Given the description of an element on the screen output the (x, y) to click on. 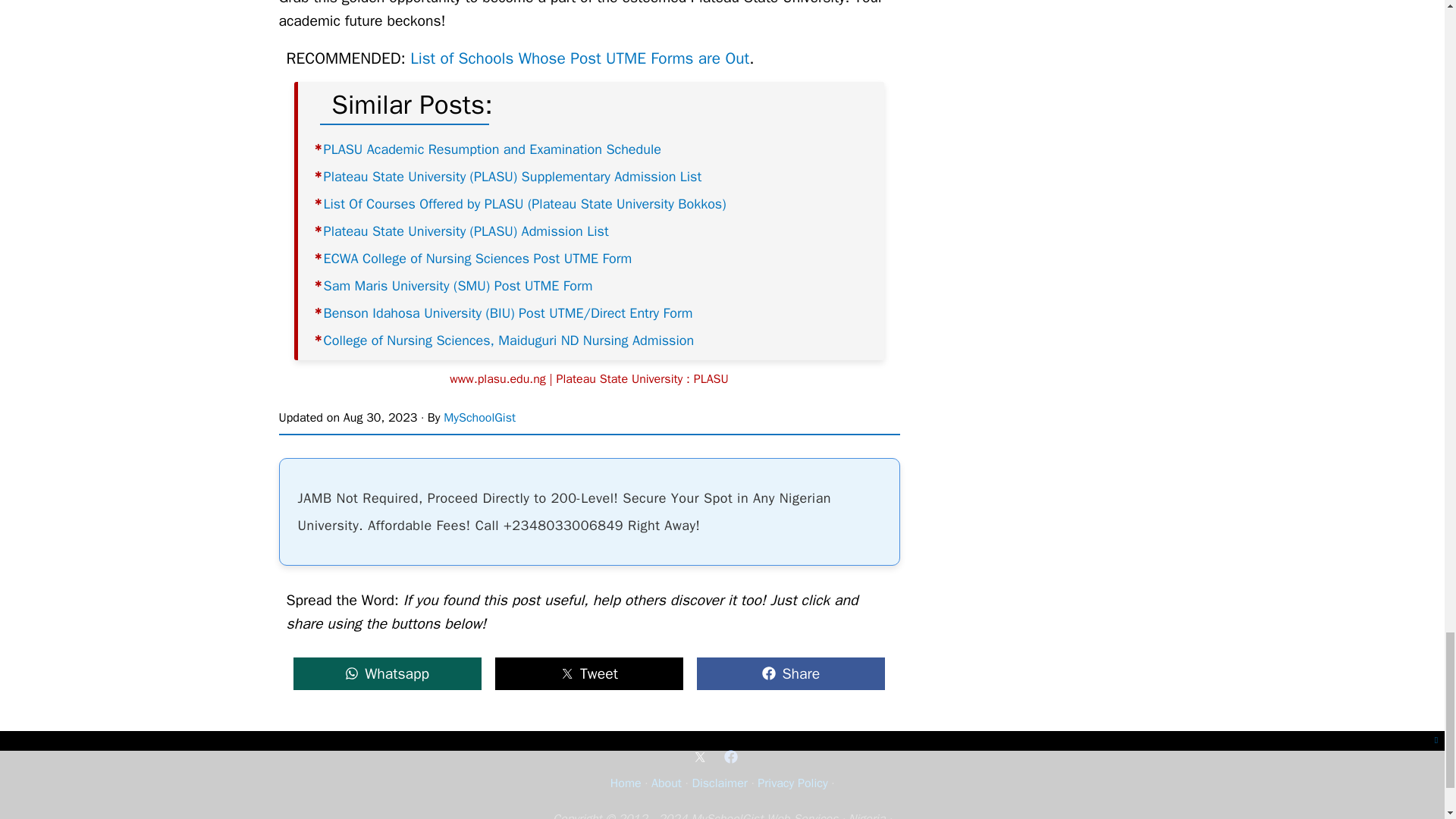
Repost this on X! (589, 673)
About (665, 783)
Share on Facebook! (790, 673)
MySchoolGist (479, 417)
Share (790, 673)
ECWA College of Nursing Sciences Post UTME Form (477, 258)
Home (626, 783)
Disclaimer (718, 783)
College of Nursing Sciences, Maiduguri ND Nursing Admission (508, 340)
PLASU Academic Resumption and Examination Schedule (492, 149)
List of Schools Whose Post UTME Forms are Out (579, 57)
Tweet (589, 673)
Privacy Policy (792, 783)
Whatsapp (386, 673)
